Given the description of an element on the screen output the (x, y) to click on. 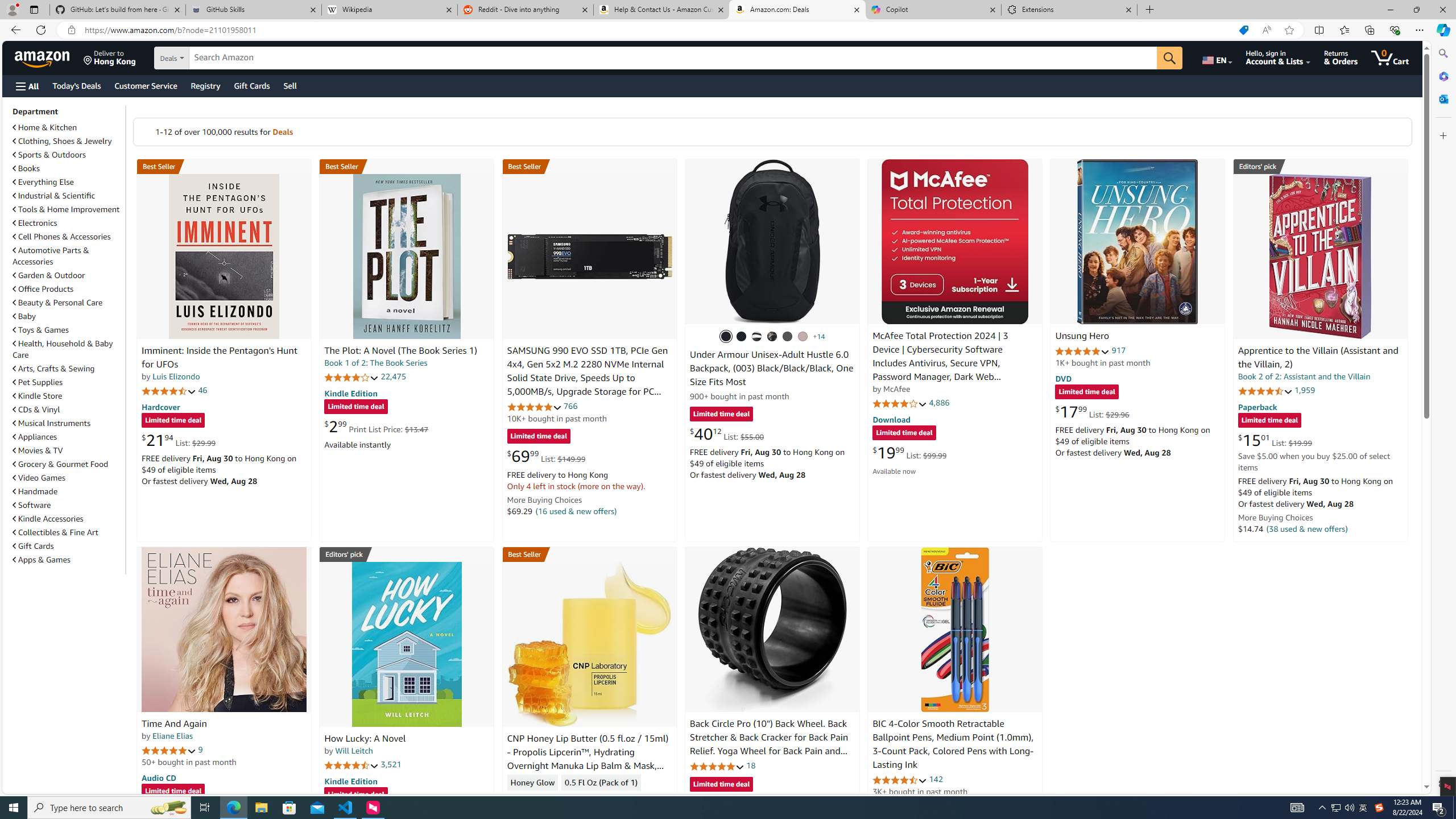
Editors' pick Best Mystery, Thriller & Suspense (406, 553)
Everything Else (43, 181)
18 (750, 764)
Search Amazon (673, 57)
$15.01 List: $19.99 (1274, 439)
Unsung Hero (1082, 336)
Sports & Outdoors (67, 154)
Office Products (67, 288)
Automotive Parts & Accessories (50, 255)
Kindle Accessories (47, 518)
Book 1 of 2: The Book Series (376, 362)
Beauty & Personal Care (58, 302)
